Given the description of an element on the screen output the (x, y) to click on. 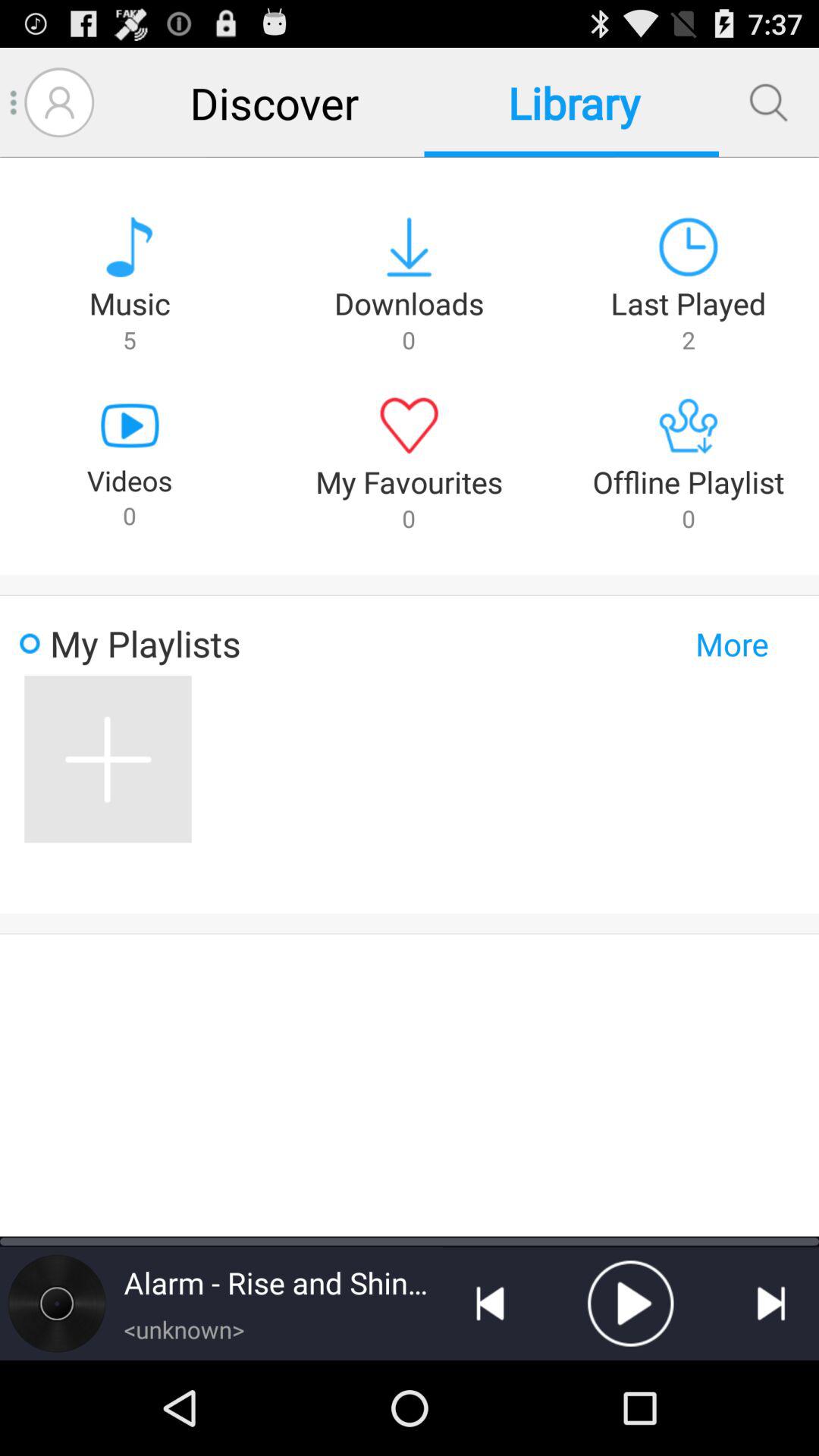
select the app to the right of the library icon (768, 102)
